Given the description of an element on the screen output the (x, y) to click on. 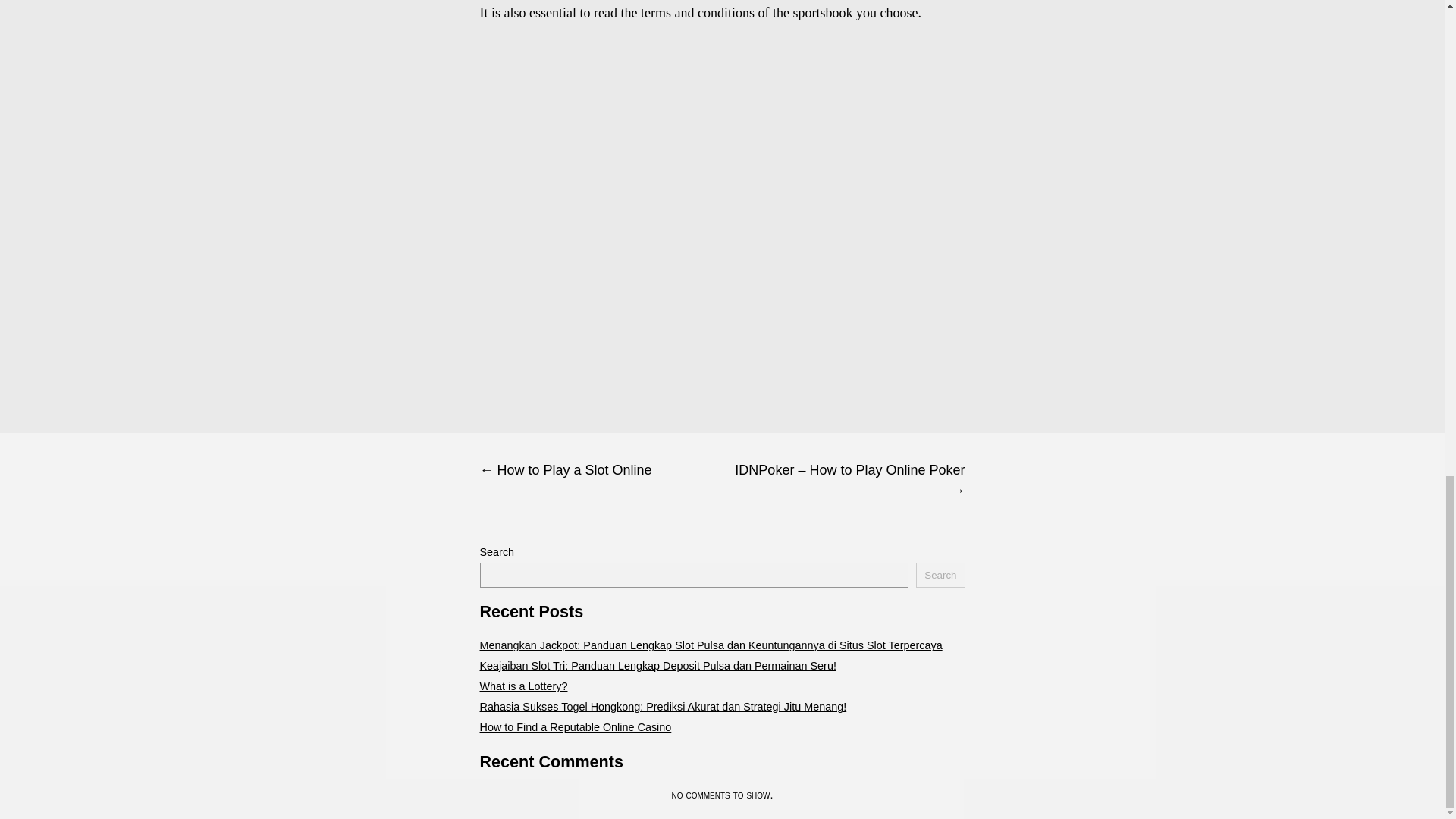
What is a Lottery? (523, 686)
How to Find a Reputable Online Casino (575, 727)
How to Play a Slot Online (600, 470)
Search (939, 575)
